Given the description of an element on the screen output the (x, y) to click on. 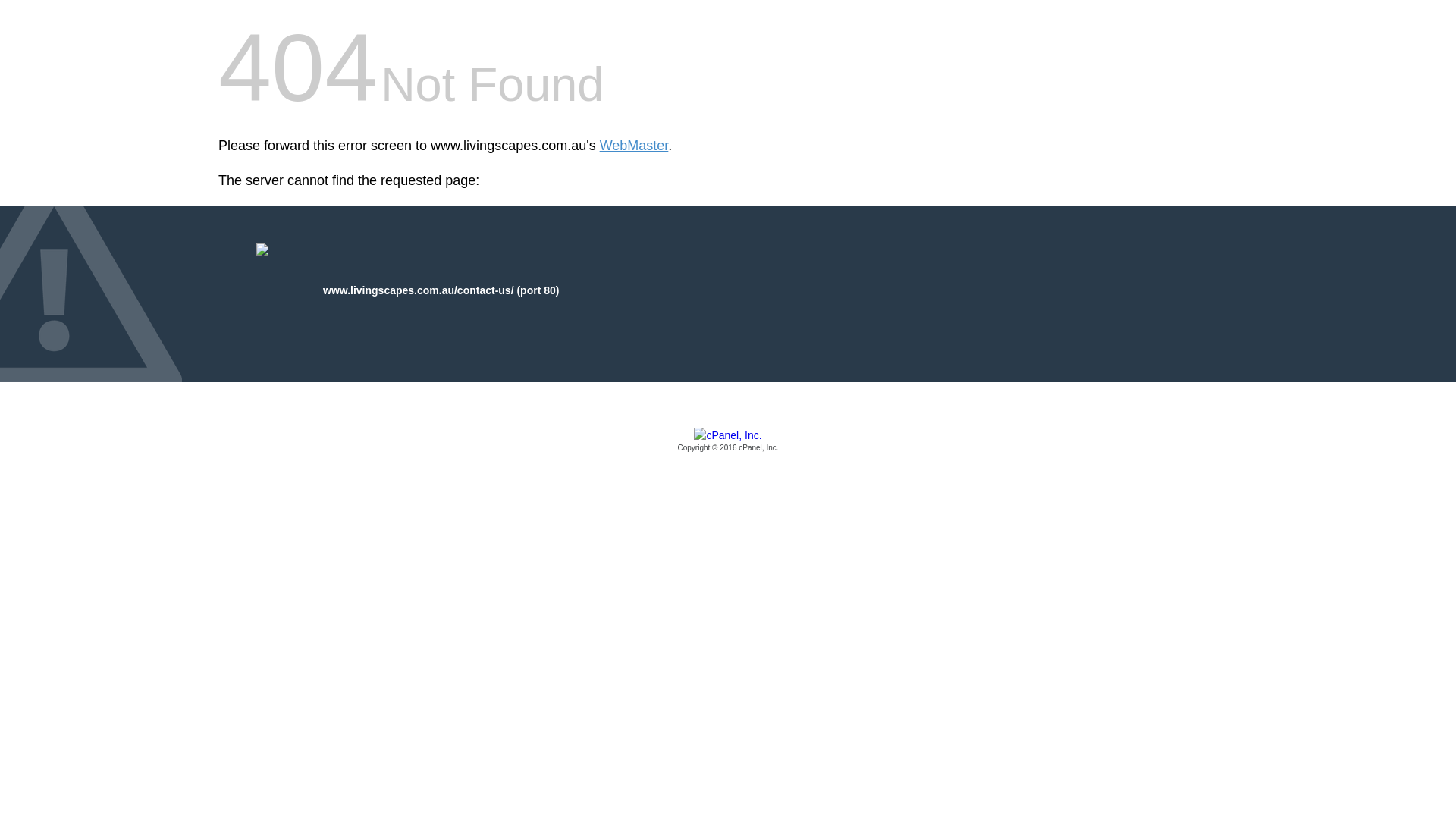
WebMaster Element type: text (633, 145)
